Given the description of an element on the screen output the (x, y) to click on. 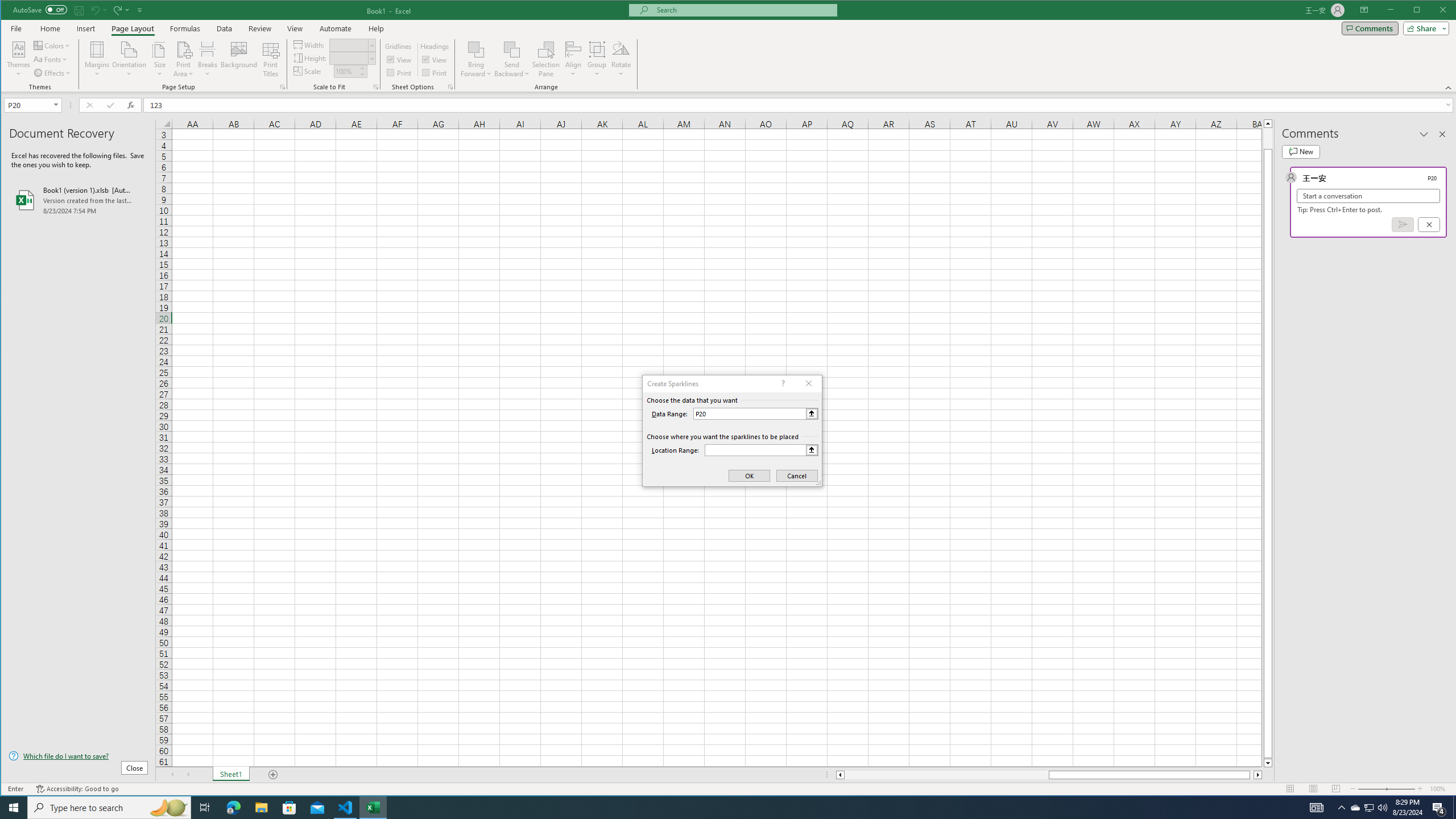
Group (596, 59)
Print Titles (270, 59)
Send Backward (512, 48)
Scale (345, 71)
Bring Forward (476, 59)
